Given the description of an element on the screen output the (x, y) to click on. 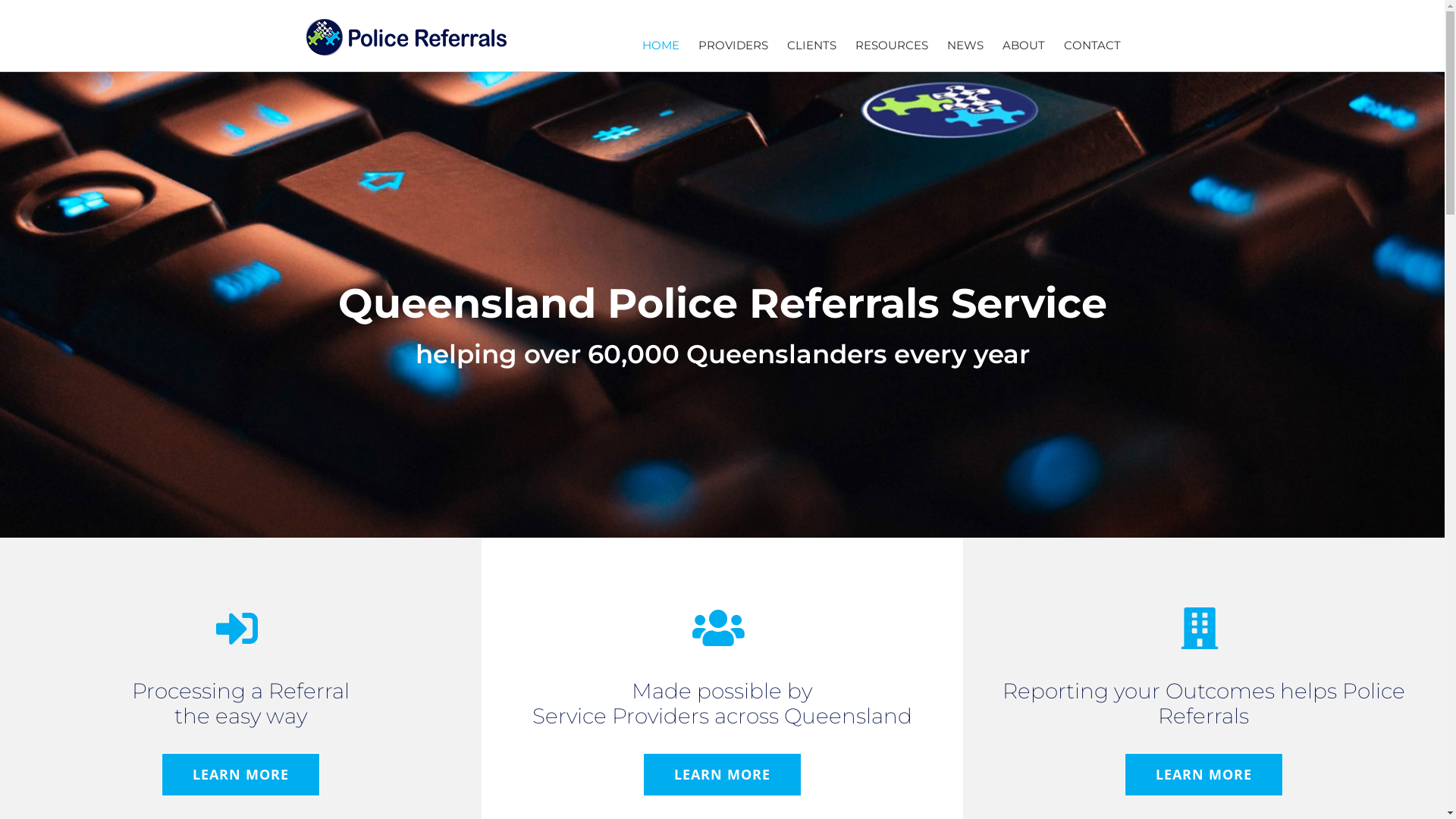
LEARN MORE Element type: text (1203, 774)
PROVIDERS Element type: text (732, 44)
NEWS Element type: text (964, 44)
RESOURCES Element type: text (891, 44)
CLIENTS Element type: text (811, 44)
LEARN MORE Element type: text (722, 774)
HOME Element type: text (659, 44)
CONTACT Element type: text (1091, 44)
LEARN MORE Element type: text (240, 774)
ABOUT Element type: text (1023, 44)
